Given the description of an element on the screen output the (x, y) to click on. 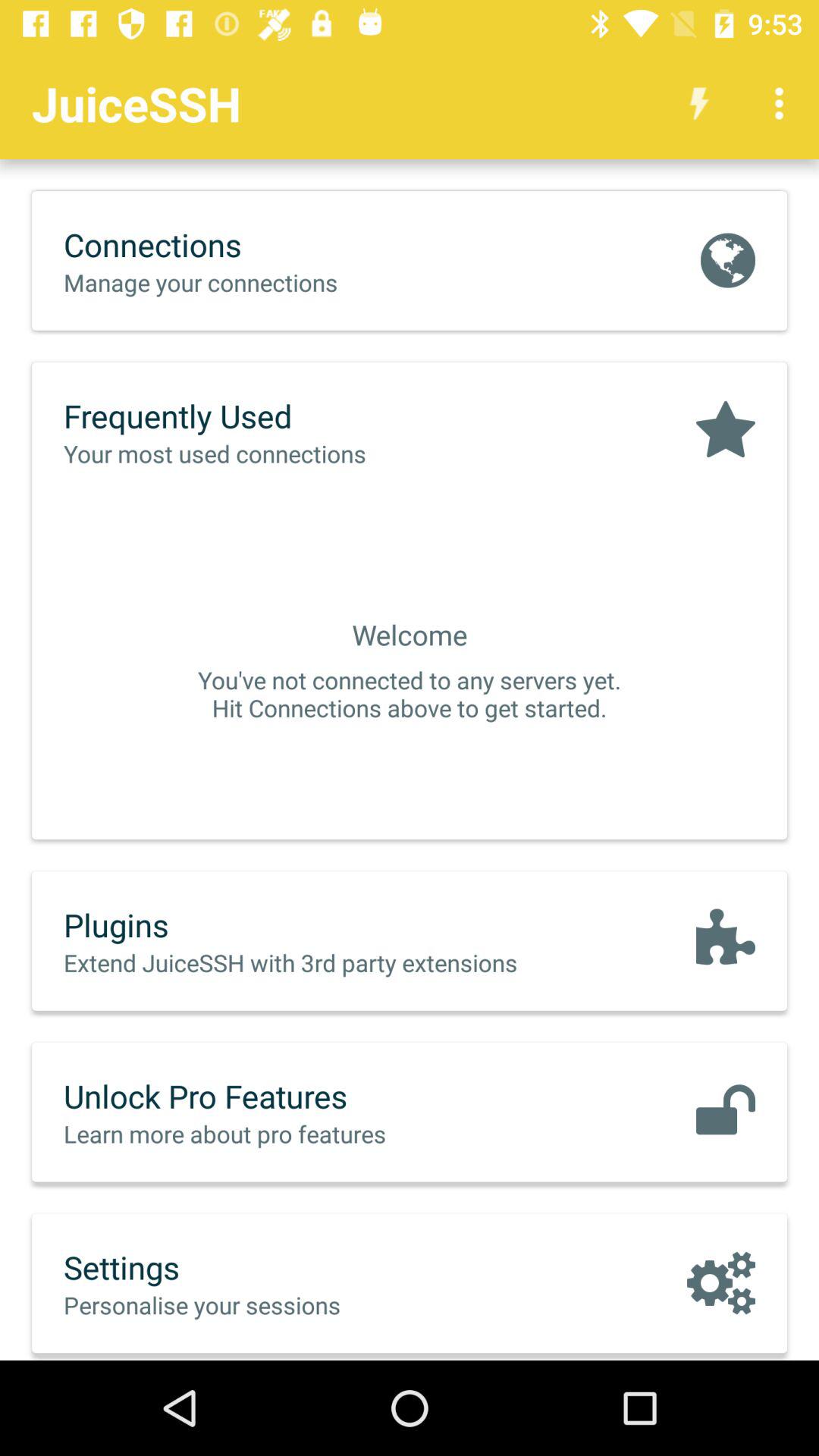
turn on item to the right of the settings item (721, 1282)
